Given the description of an element on the screen output the (x, y) to click on. 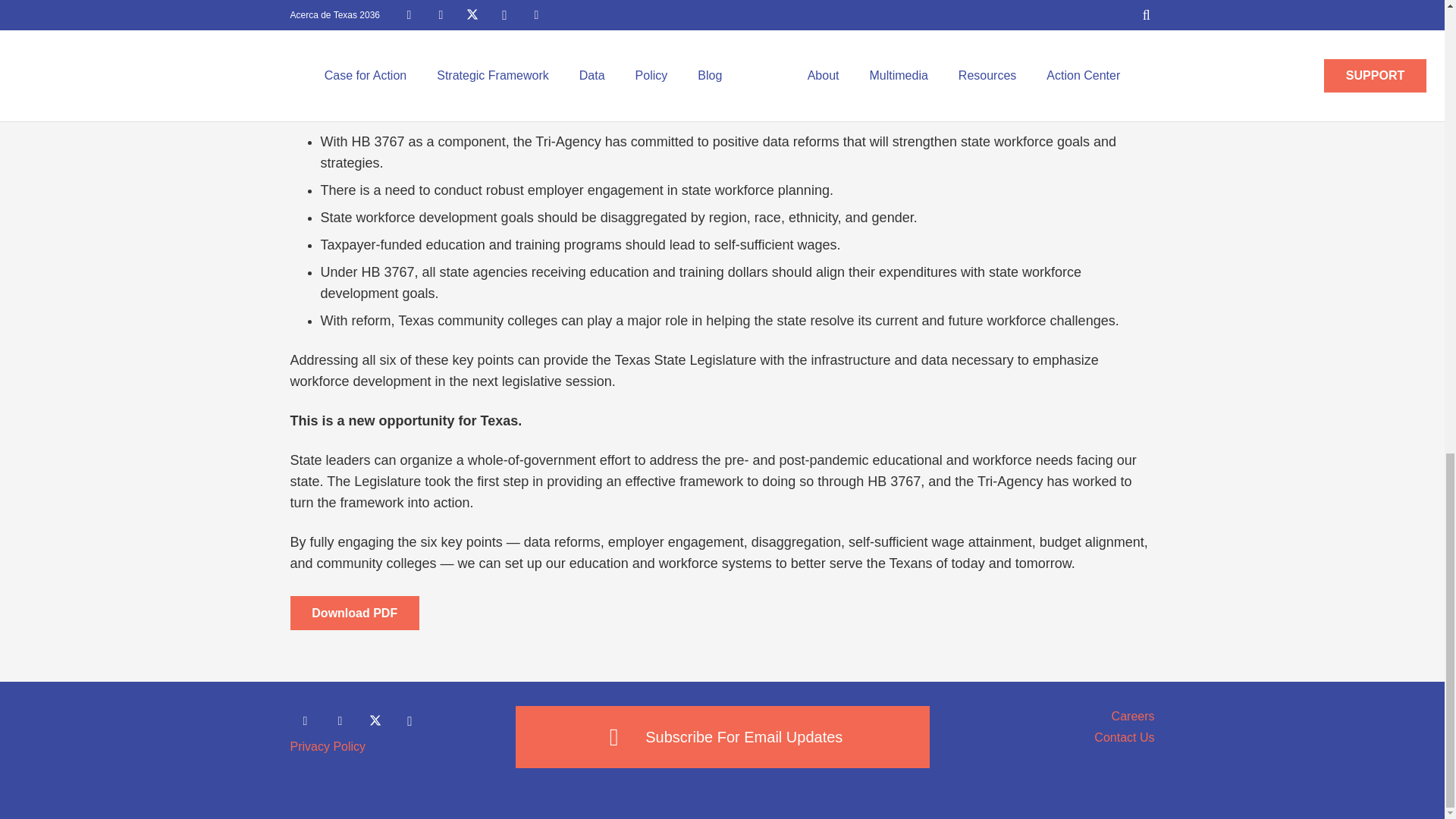
LinkedIn (339, 720)
Facebook (304, 720)
Instagram (409, 720)
Twitter (374, 720)
